Given the description of an element on the screen output the (x, y) to click on. 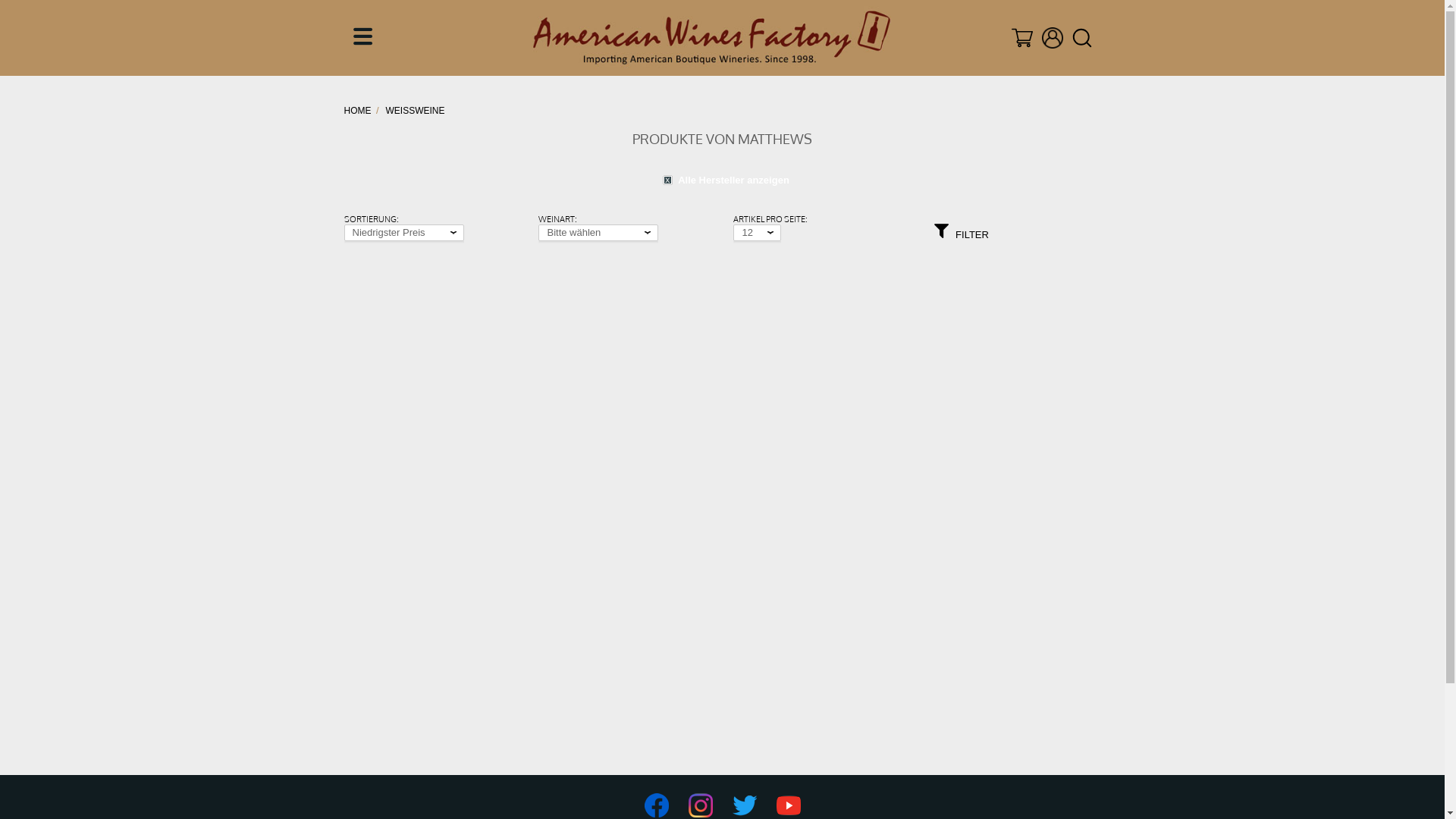
HOME Element type: text (358, 110)
Alle Hersteller anzeigen Element type: text (722, 179)
American Wines Factory AG Element type: text (711, 37)
WEISSWEINE Element type: text (414, 110)
Mein Konto Element type: hover (1052, 37)
